Given the description of an element on the screen output the (x, y) to click on. 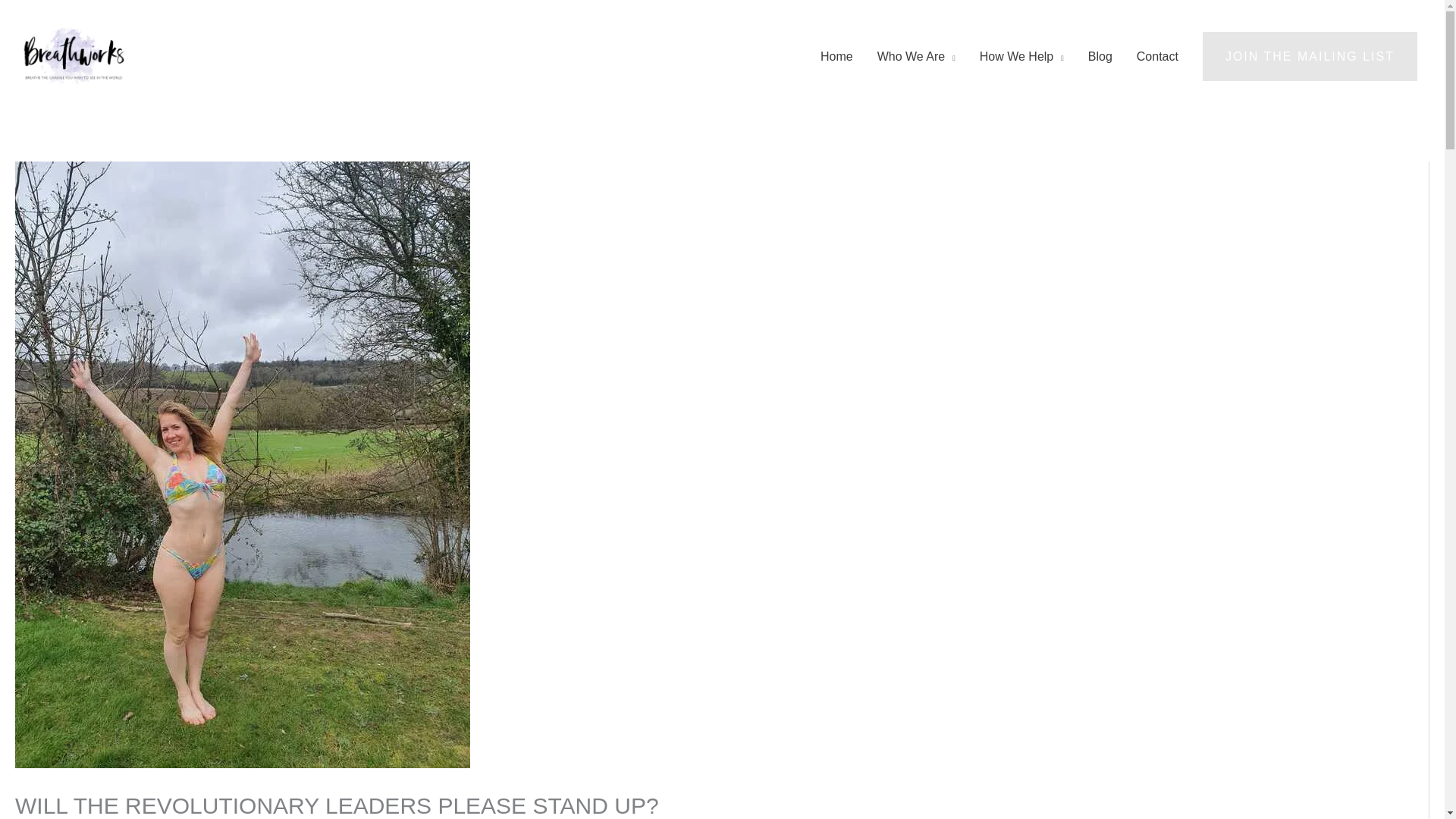
Blog (1099, 56)
Contact (1157, 56)
Home (836, 56)
JOIN THE MAILING LIST (1309, 56)
How We Help (1021, 56)
Who We Are (916, 56)
